Given the description of an element on the screen output the (x, y) to click on. 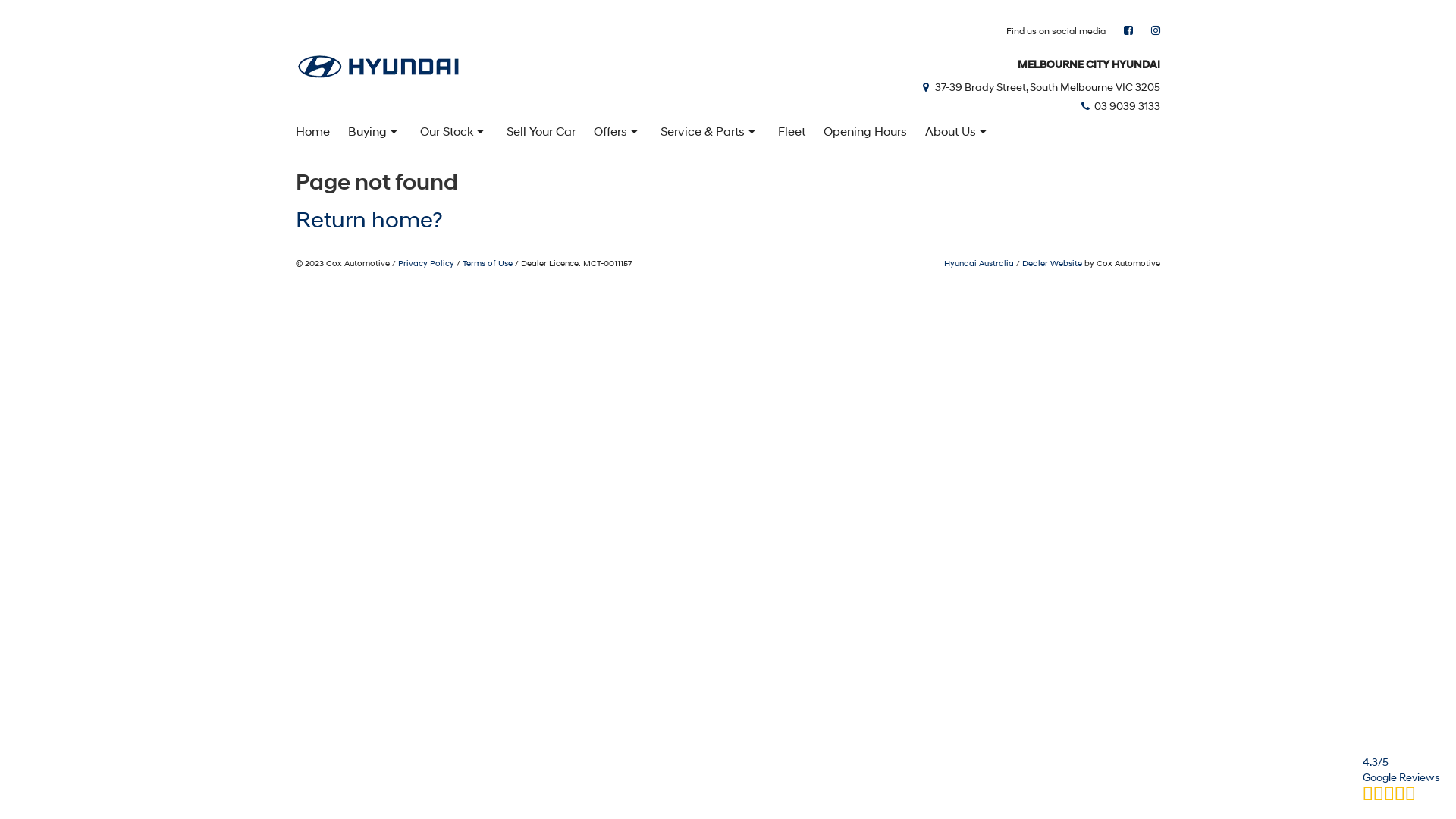
37-39 Brady Street, South Melbourne VIC 3205 Element type: text (1039, 86)
03 9039 3133 Element type: text (1119, 105)
Dealer Website Element type: text (1052, 262)
Service & Parts Element type: text (709, 130)
Home Element type: text (309, 130)
Privacy Policy Element type: text (426, 262)
Terms of Use Element type: text (487, 262)
About Us Element type: text (958, 130)
Facebook Element type: hover (1127, 29)
Buying Element type: text (374, 130)
Instagram Element type: hover (1155, 29)
Fleet Element type: text (791, 130)
Our Stock Element type: text (454, 130)
Return home? Element type: text (368, 220)
Opening Hours Element type: text (865, 130)
Offers Element type: text (617, 130)
Hyundai Australia Element type: text (978, 262)
Sell Your Car Element type: text (540, 130)
